Given the description of an element on the screen output the (x, y) to click on. 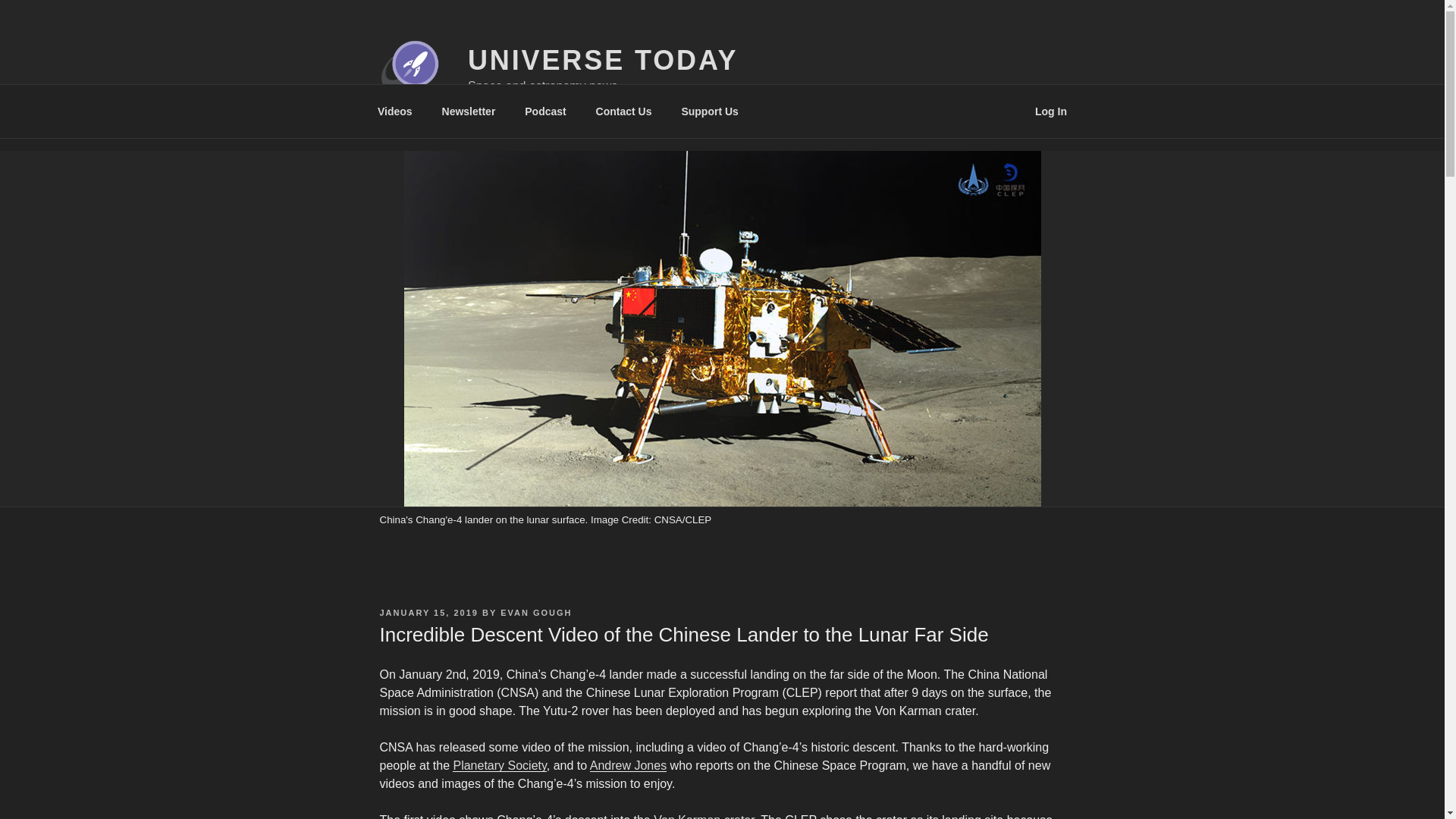
Planetary Society (499, 765)
Newsletter (468, 110)
Von Karman crater (703, 816)
Support Us (709, 110)
EVAN GOUGH (536, 612)
Videos (394, 110)
Log In (1051, 110)
UNIVERSE TODAY (602, 60)
Contact Us (623, 110)
JANUARY 15, 2019 (427, 612)
Podcast (545, 110)
Andrew Jones (627, 765)
